Given the description of an element on the screen output the (x, y) to click on. 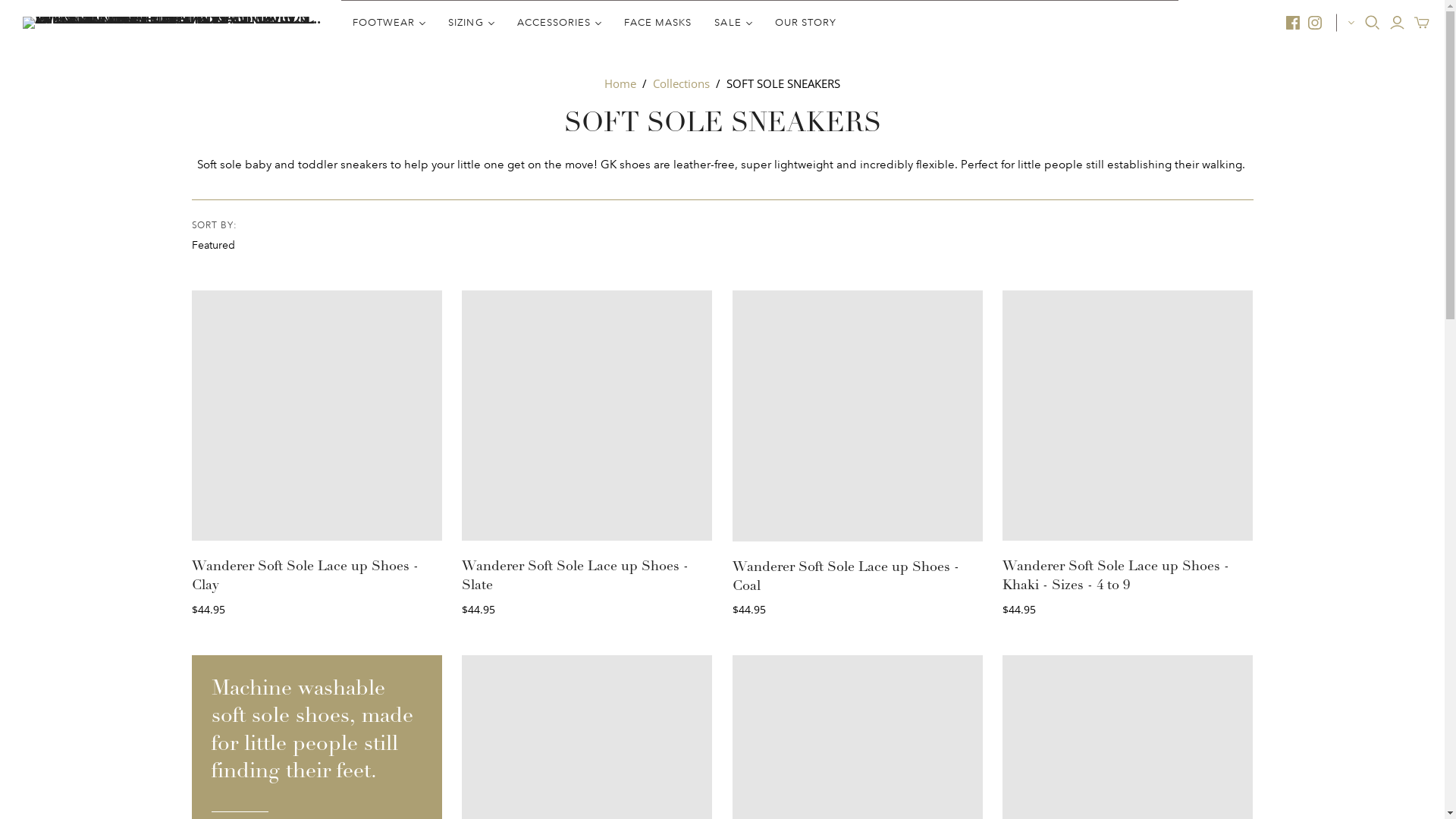
OUR STORY Element type: text (805, 22)
FOOTWEAR Element type: text (388, 22)
Wanderer Soft Sole Lace up Shoes - Slate Element type: text (574, 575)
Wanderer Soft Sole Lace up Shoes - Clay Element type: text (304, 575)
Collections Element type: text (680, 83)
SALE Element type: text (732, 22)
FACE MASKS Element type: text (657, 22)
Wanderer Soft Sole Lace up Shoes - Coal Element type: text (845, 576)
SIZING Element type: text (470, 22)
Wanderer Soft Sole Lace up Shoes - Khaki - Sizes - 4 to 9 Element type: text (1115, 575)
ACCESSORIES Element type: text (558, 22)
Home Element type: text (620, 83)
